Given the description of an element on the screen output the (x, y) to click on. 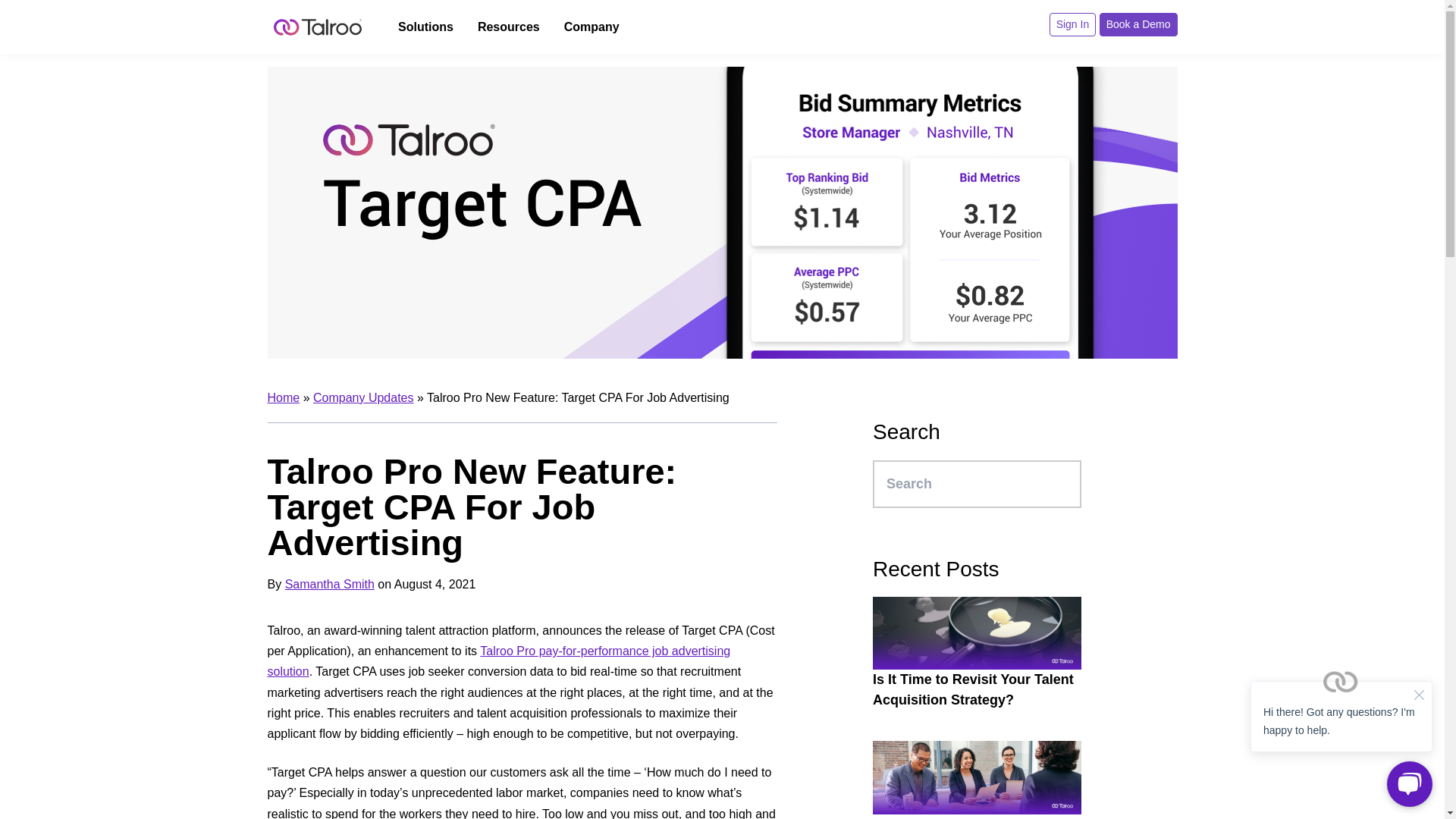
Posts by Samantha Smith (329, 584)
